Given the description of an element on the screen output the (x, y) to click on. 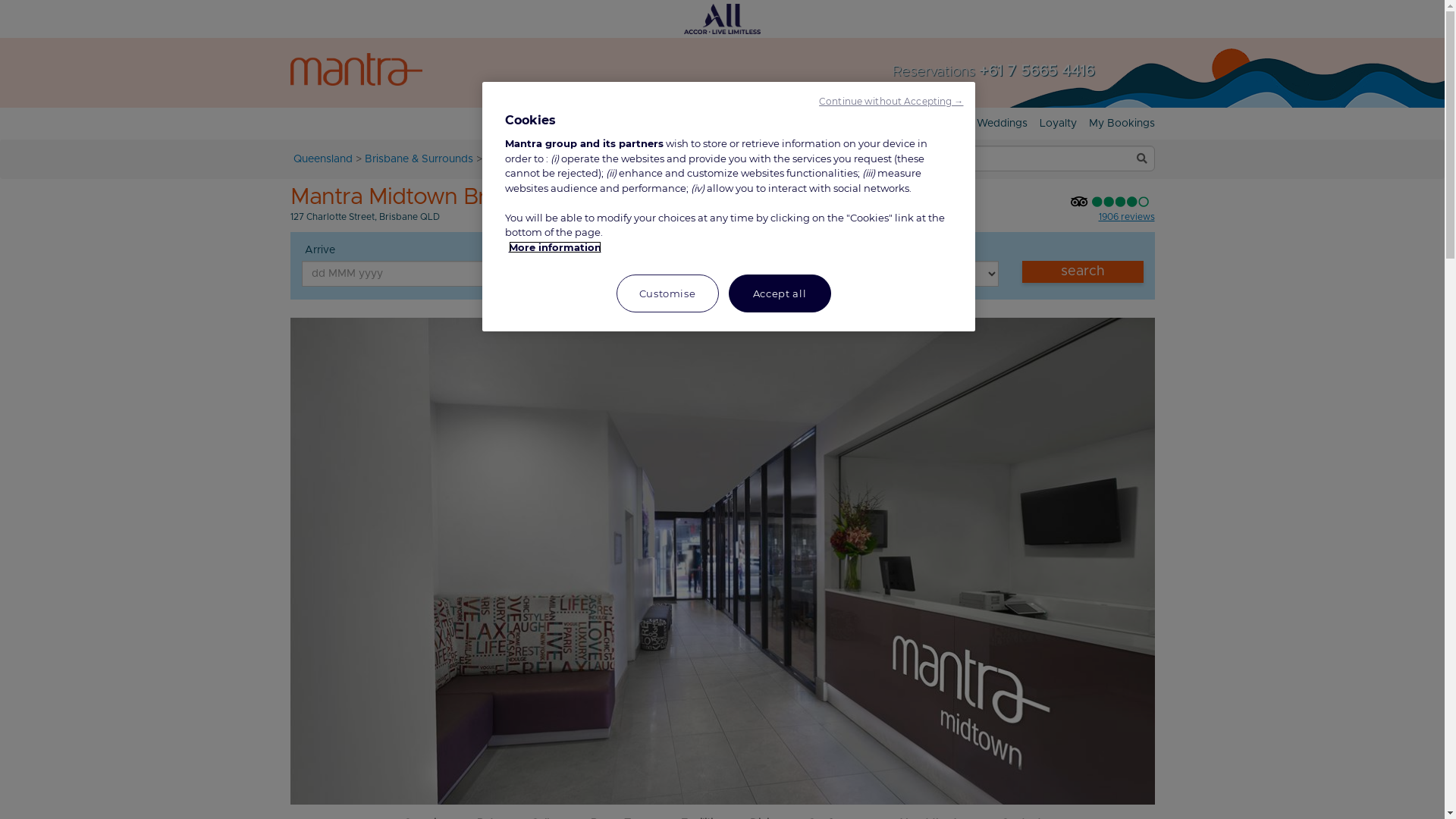
Customise Element type: text (666, 293)
All | Accor Live Limitless Element type: hover (722, 18)
Hotels & Resorts Element type: text (582, 123)
All Element type: hover (722, 18)
Specials Element type: text (753, 123)
Weddings Element type: text (1001, 123)
My Bookings Element type: text (1121, 123)
Conference Element type: text (934, 123)
Accept all Element type: text (779, 293)
+61 7 5665 4416 Element type: text (1035, 70)
Brisbane Element type: text (507, 158)
Mantra Hotels Element type: hover (355, 75)
search Element type: text (1082, 271)
Business Element type: text (871, 123)
Long Stay Element type: text (811, 123)
Lobby - Mantra Midtown Brisbane Element type: hover (721, 560)
Queensland Element type: text (321, 158)
Make A Booking Element type: text (677, 123)
More information Element type: text (554, 247)
Brisbane & Surrounds Element type: text (418, 158)
Loyalty Element type: text (1057, 123)
1906 reviews Element type: text (1126, 216)
